Given the description of an element on the screen output the (x, y) to click on. 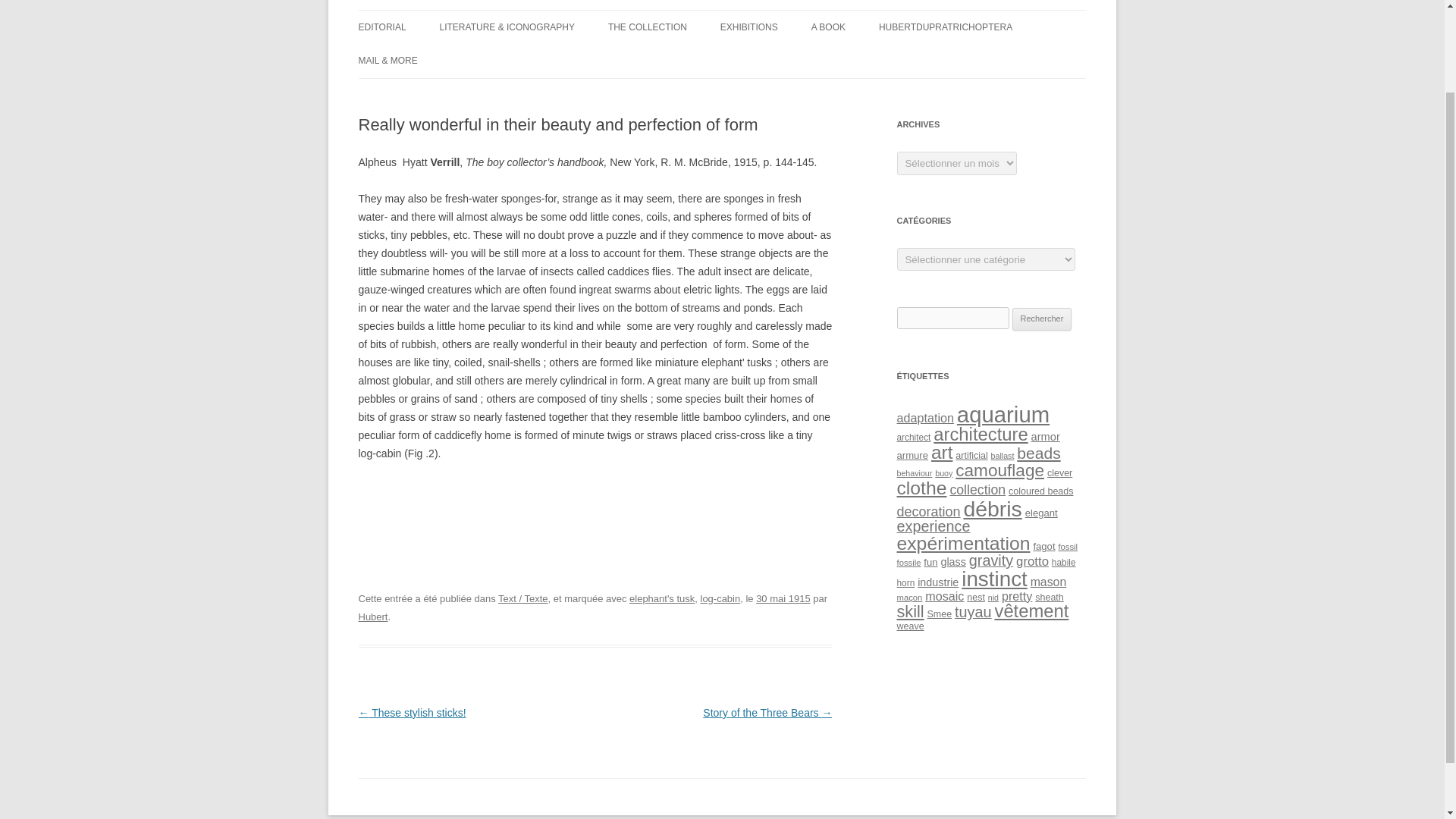
EDITORIAL (382, 27)
LITERATURE ONLINE (515, 59)
elephant's tusk (661, 598)
log-cabin (720, 598)
53 sujets (942, 452)
A BOOK (827, 27)
22 sujets (912, 455)
Afficher tous les articles par Hubert (372, 616)
21 sujets (971, 455)
77 sujets (1002, 414)
